Given the description of an element on the screen output the (x, y) to click on. 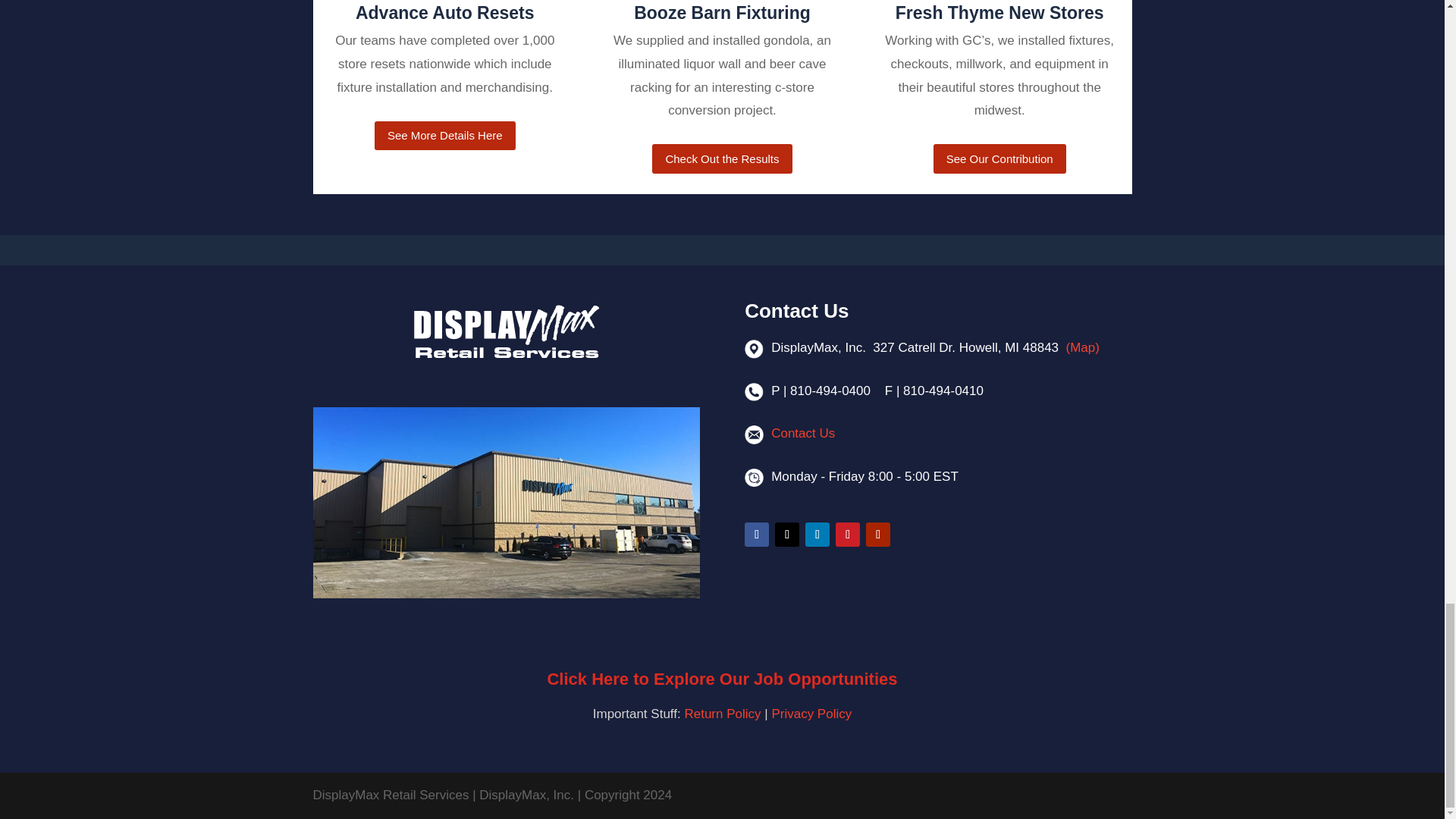
Follow on LinkedIn (817, 534)
Follow on Pinterest (847, 534)
Follow on Youtube (877, 534)
Follow on Facebook (756, 534)
Follow on Twitter (786, 534)
